Given the description of an element on the screen output the (x, y) to click on. 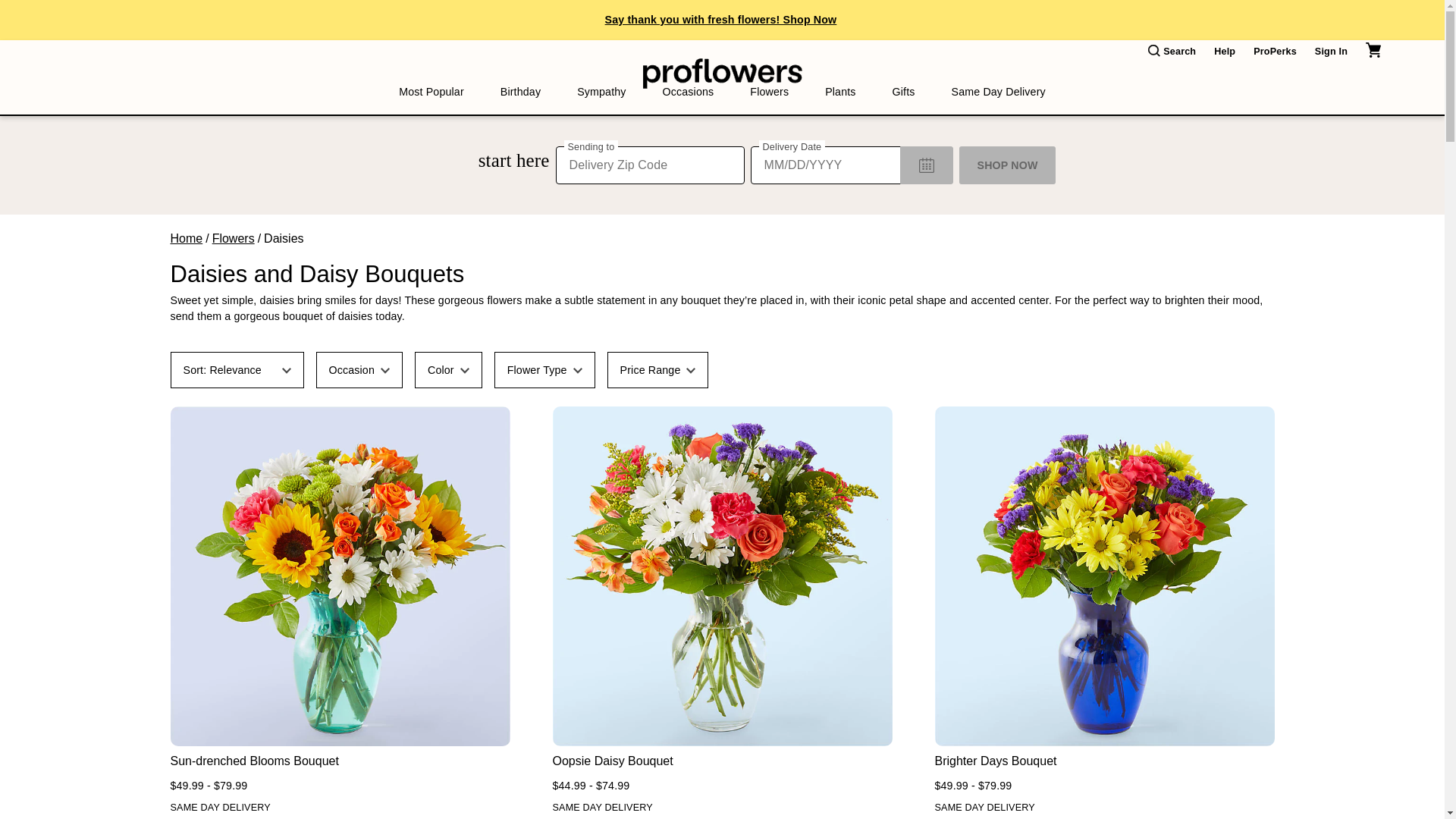
ProPerks (1275, 51)
Help (1224, 51)
Most Popular (430, 91)
Search (1171, 51)
Sign In (1331, 51)
Say thank you with fresh flowers! Shop Now (721, 19)
Birthday (520, 91)
